Given the description of an element on the screen output the (x, y) to click on. 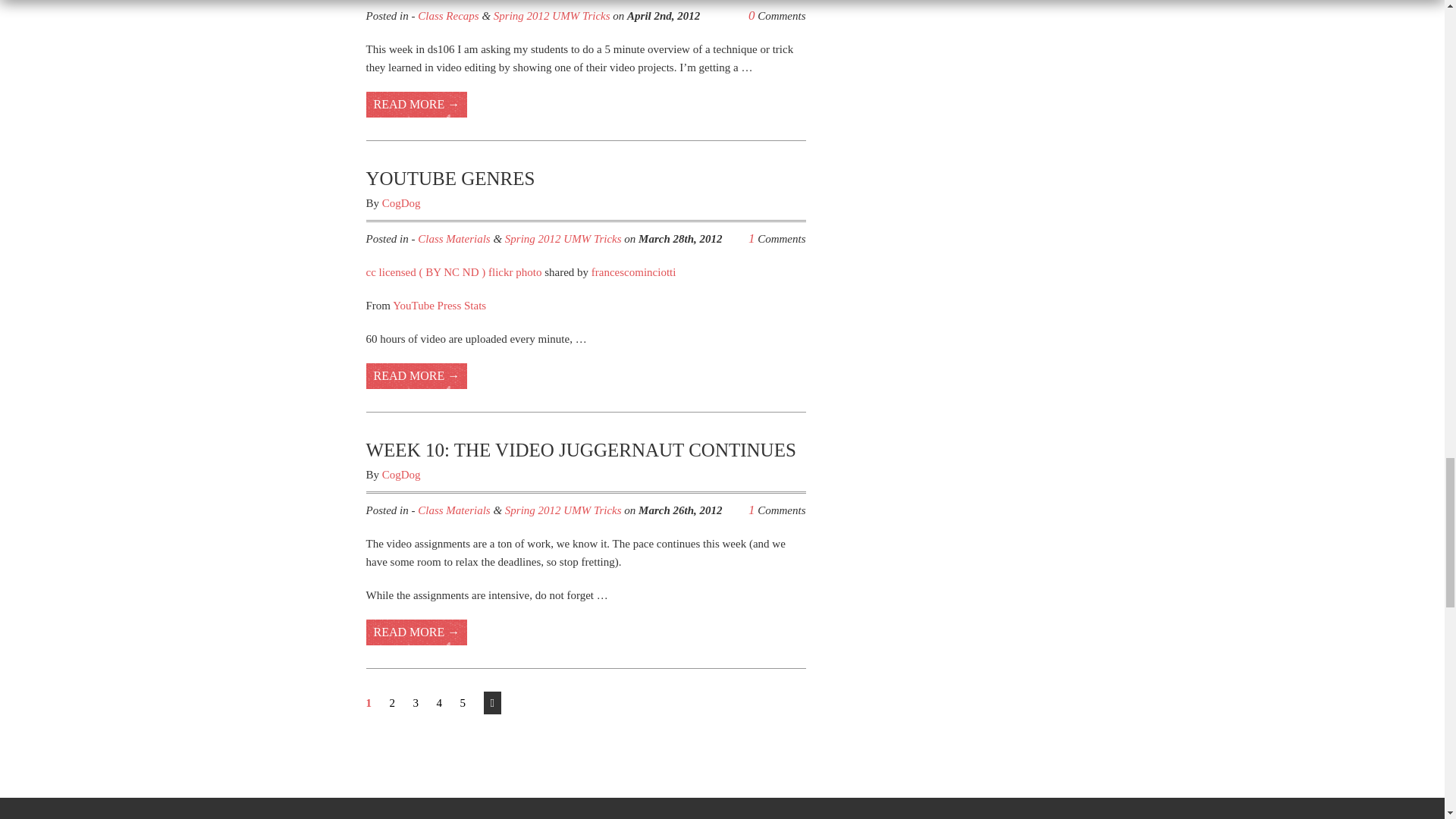
Posts by CogDog (400, 203)
